Given the description of an element on the screen output the (x, y) to click on. 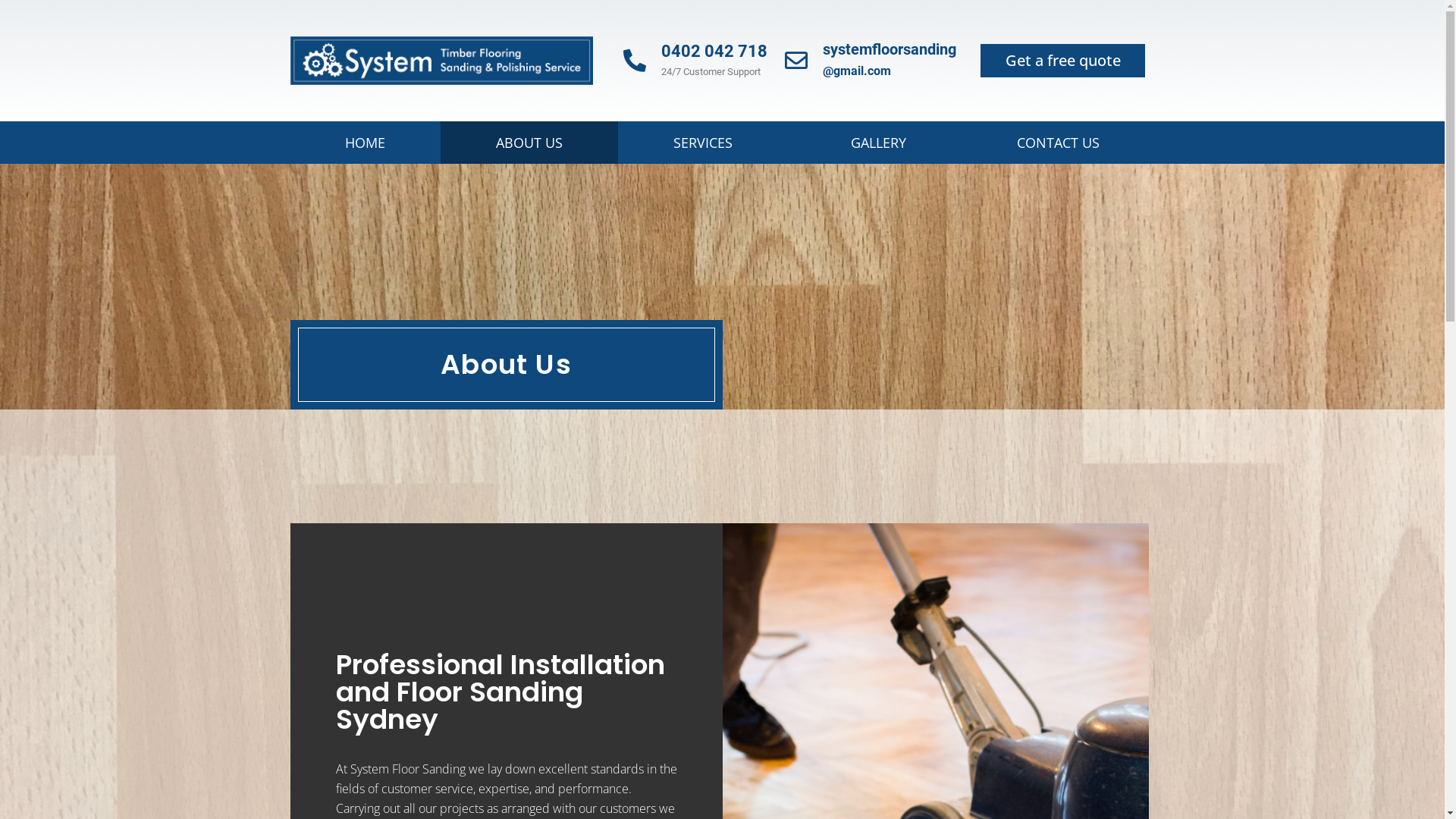
CONTACT US Element type: text (1057, 142)
Get a free quote Element type: text (1062, 60)
HOME Element type: text (364, 142)
systemfloorsanding Element type: text (889, 49)
0402 042 718 Element type: text (714, 50)
ABOUT US Element type: text (529, 142)
GALLERY Element type: text (878, 142)
SERVICES Element type: text (706, 142)
